Given the description of an element on the screen output the (x, y) to click on. 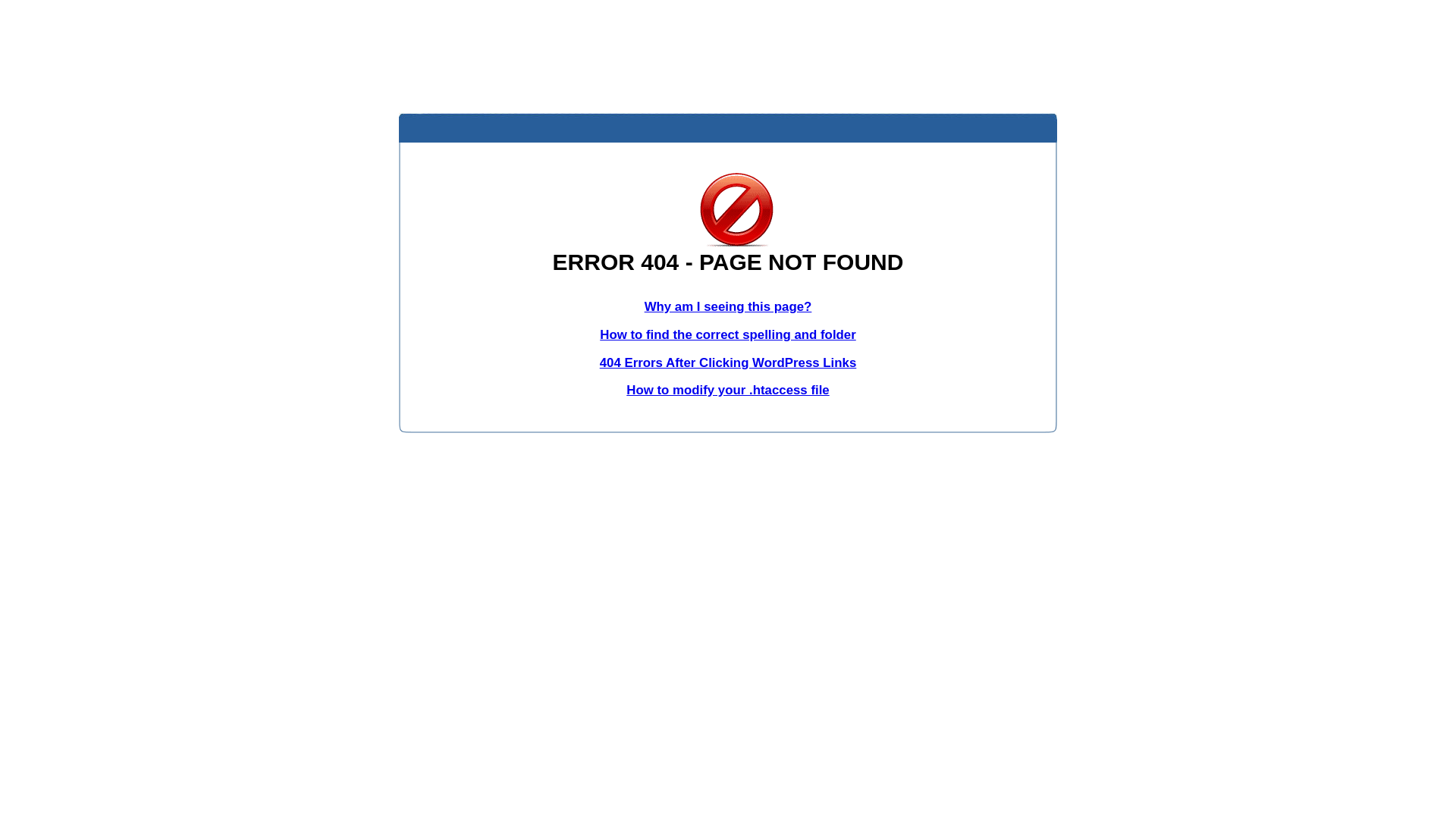
How to modify your .htaccess file Element type: text (727, 389)
How to find the correct spelling and folder Element type: text (727, 334)
Why am I seeing this page? Element type: text (728, 306)
404 Errors After Clicking WordPress Links Element type: text (727, 362)
